Given the description of an element on the screen output the (x, y) to click on. 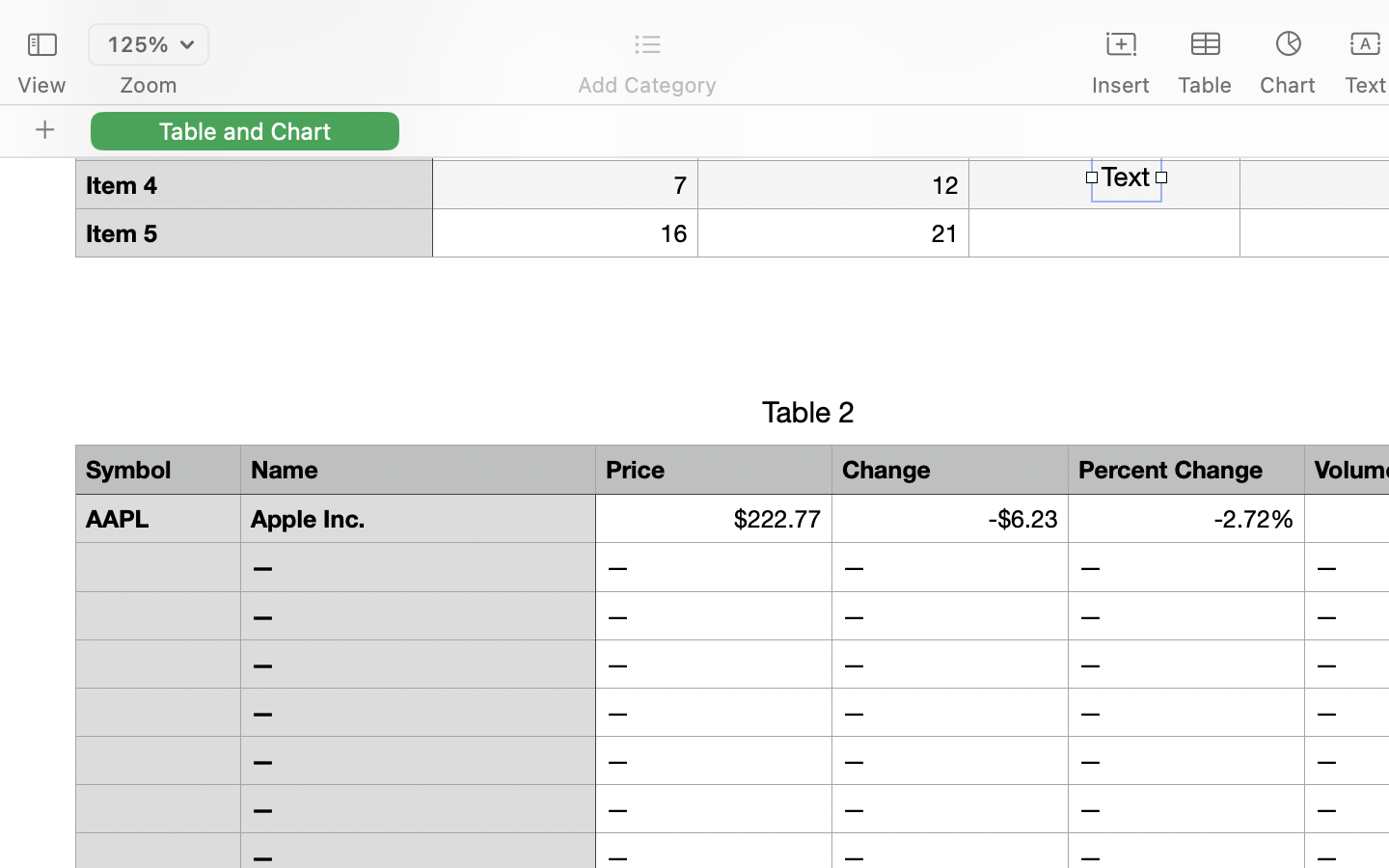
Zoom Element type: AXStaticText (148, 84)
Untitled Element type: AXStaticText (1334, 24)
Table and Chart Element type: AXStaticText (244, 129)
Insert Element type: AXStaticText (1120, 84)
